Given the description of an element on the screen output the (x, y) to click on. 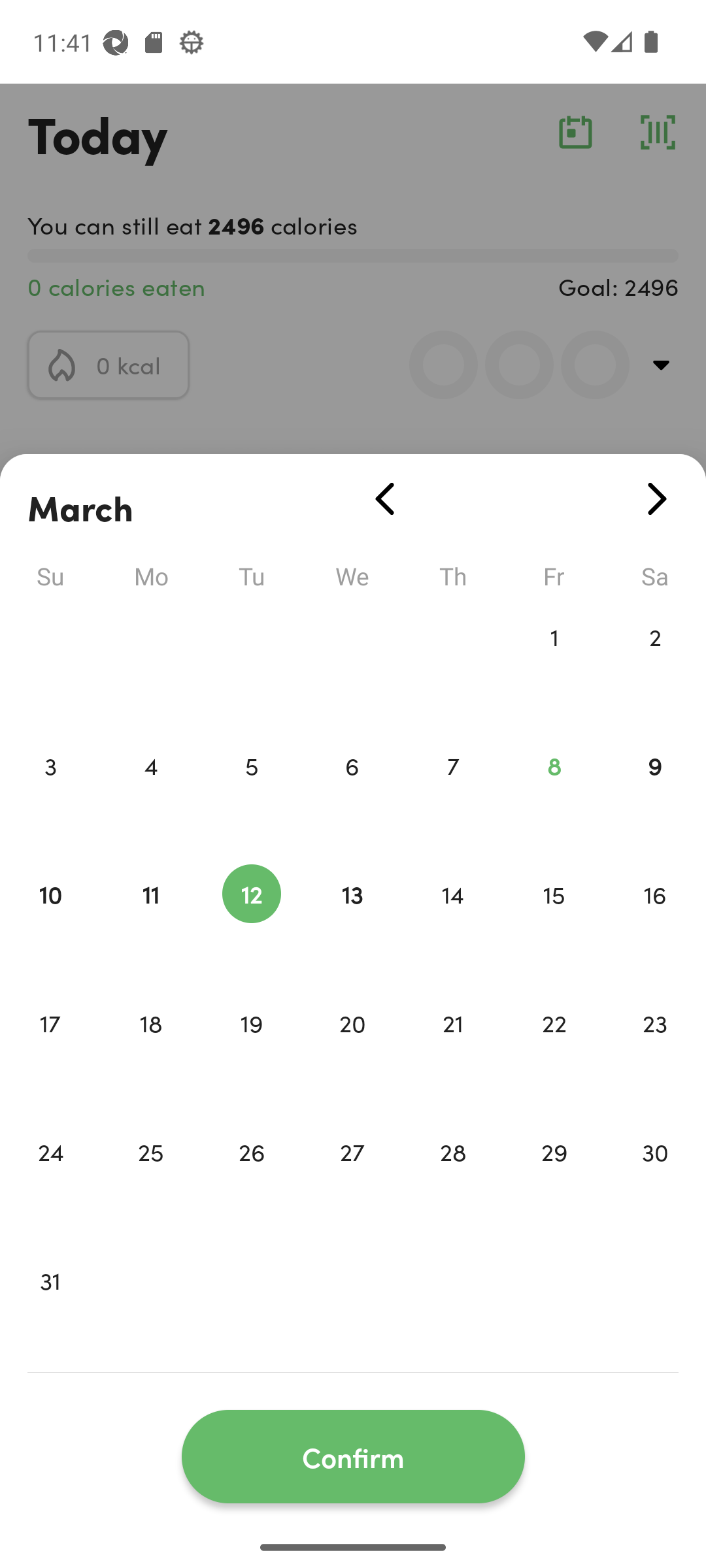
1 (554, 663)
2 (655, 663)
3 (50, 793)
4 (150, 793)
5 (251, 793)
6 (352, 793)
7 (453, 793)
8 (554, 793)
9 (655, 793)
10 (50, 921)
11 (150, 921)
12 (251, 921)
13 (352, 921)
14 (453, 921)
15 (554, 921)
16 (655, 921)
17 (50, 1050)
18 (150, 1050)
19 (251, 1050)
20 (352, 1050)
21 (453, 1050)
22 (554, 1050)
23 (655, 1050)
24 (50, 1178)
25 (150, 1178)
26 (251, 1178)
27 (352, 1178)
28 (453, 1178)
29 (554, 1178)
30 (655, 1178)
31 (50, 1307)
Confirm (353, 1456)
